Given the description of an element on the screen output the (x, y) to click on. 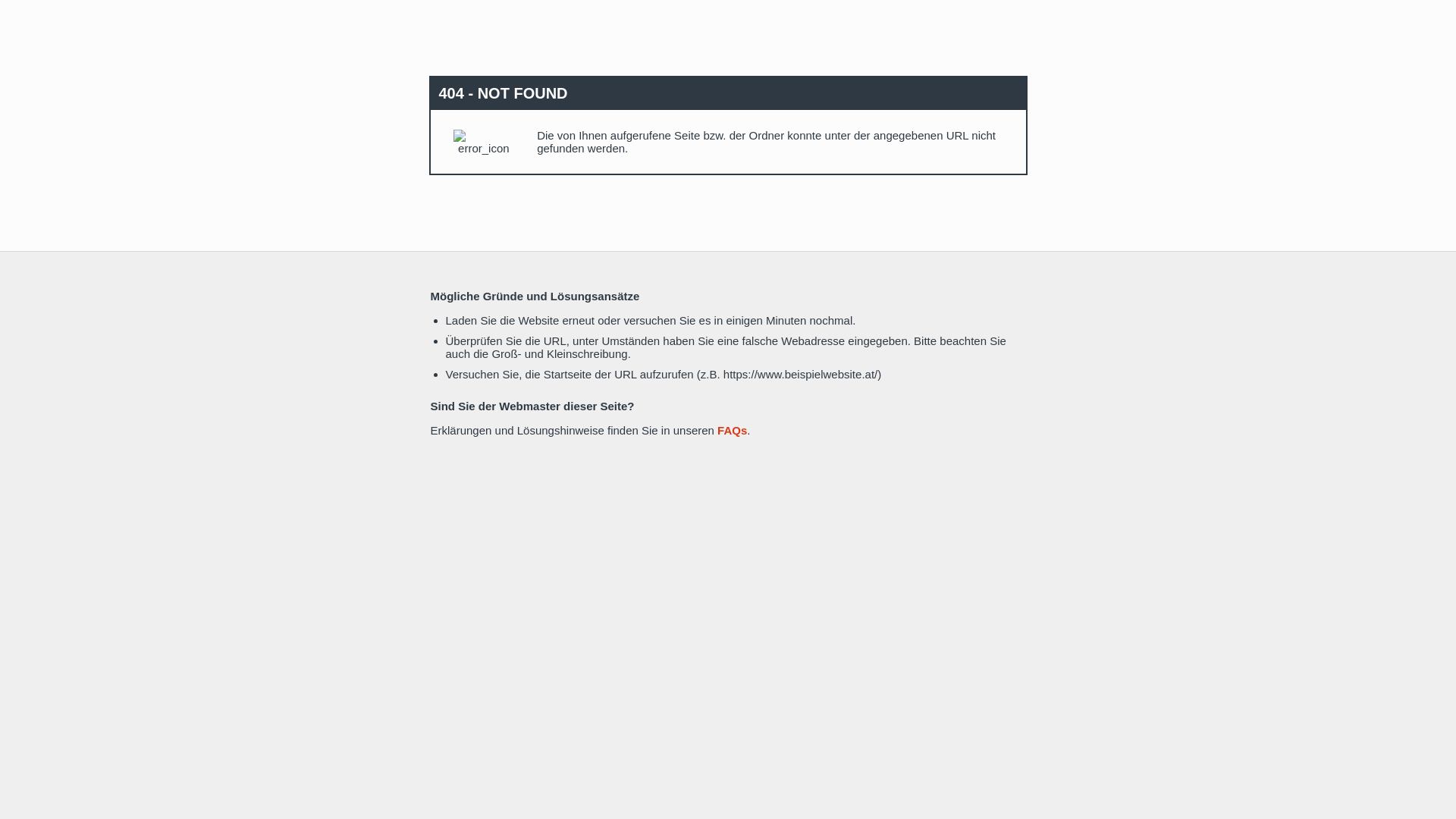
FAQs Element type: text (731, 429)
